Given the description of an element on the screen output the (x, y) to click on. 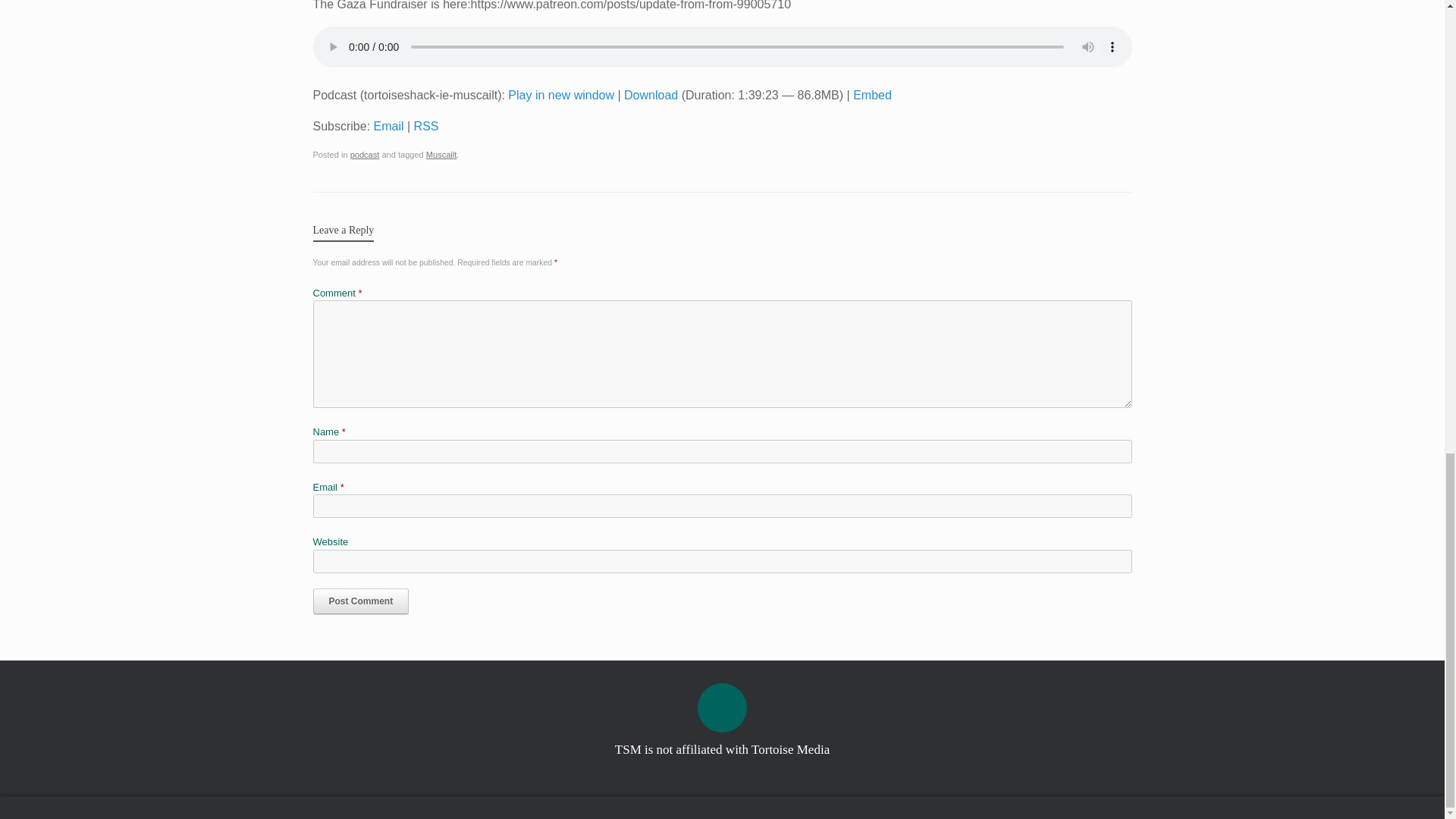
Subscribe via RSS (426, 125)
Download (651, 94)
Download (651, 94)
Embed (872, 94)
Play in new window (561, 94)
RSS (426, 125)
Play in new window (561, 94)
Post Comment (361, 601)
Post Comment (361, 601)
Subscribe by Email (389, 125)
Embed (872, 94)
podcast (365, 153)
Email (389, 125)
Muscailt (441, 153)
